Given the description of an element on the screen output the (x, y) to click on. 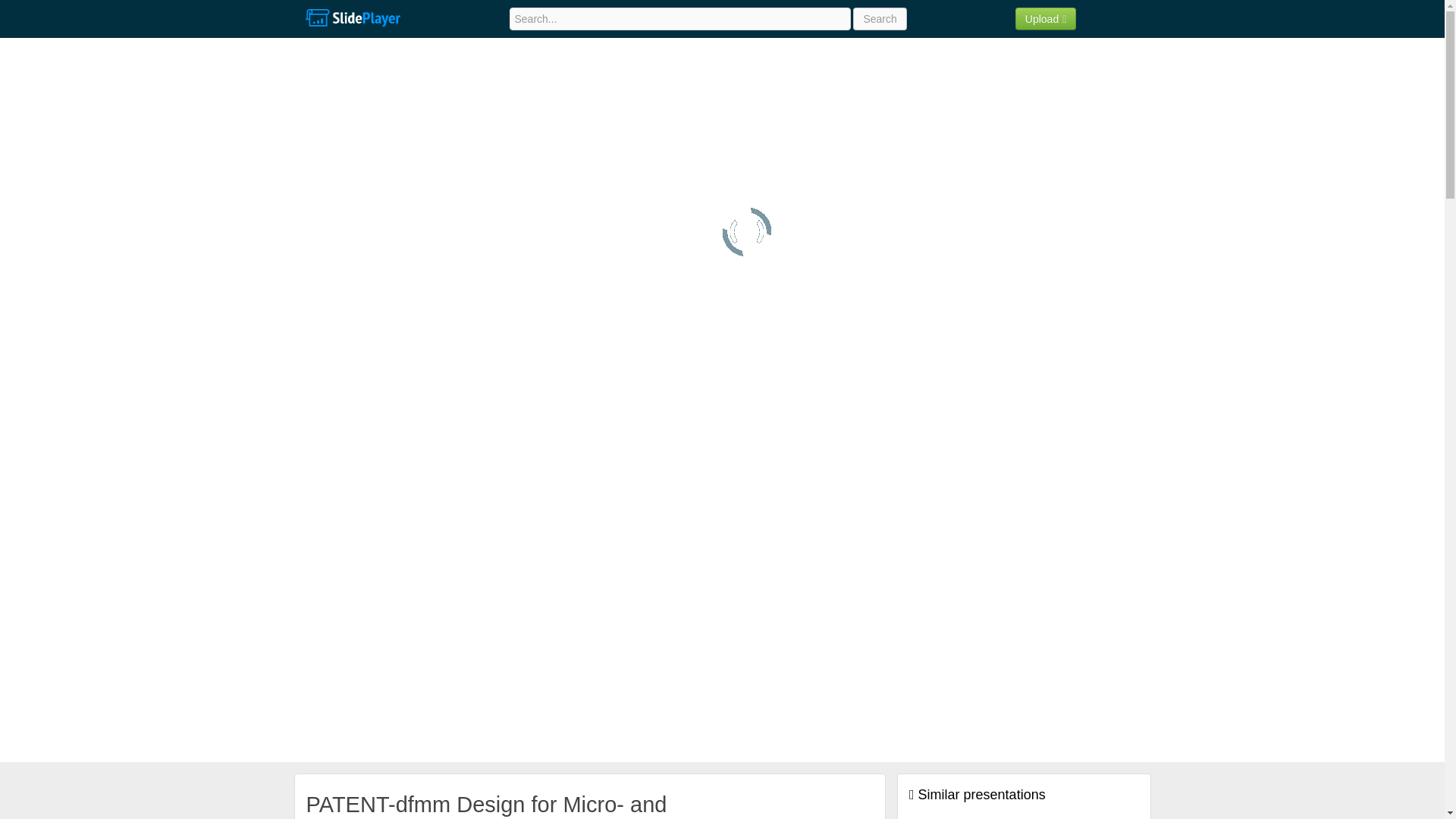
Search (879, 18)
Presentation is loading. Please wait. (746, 232)
SlidePlayer (352, 18)
Upload (1045, 18)
